Given the description of an element on the screen output the (x, y) to click on. 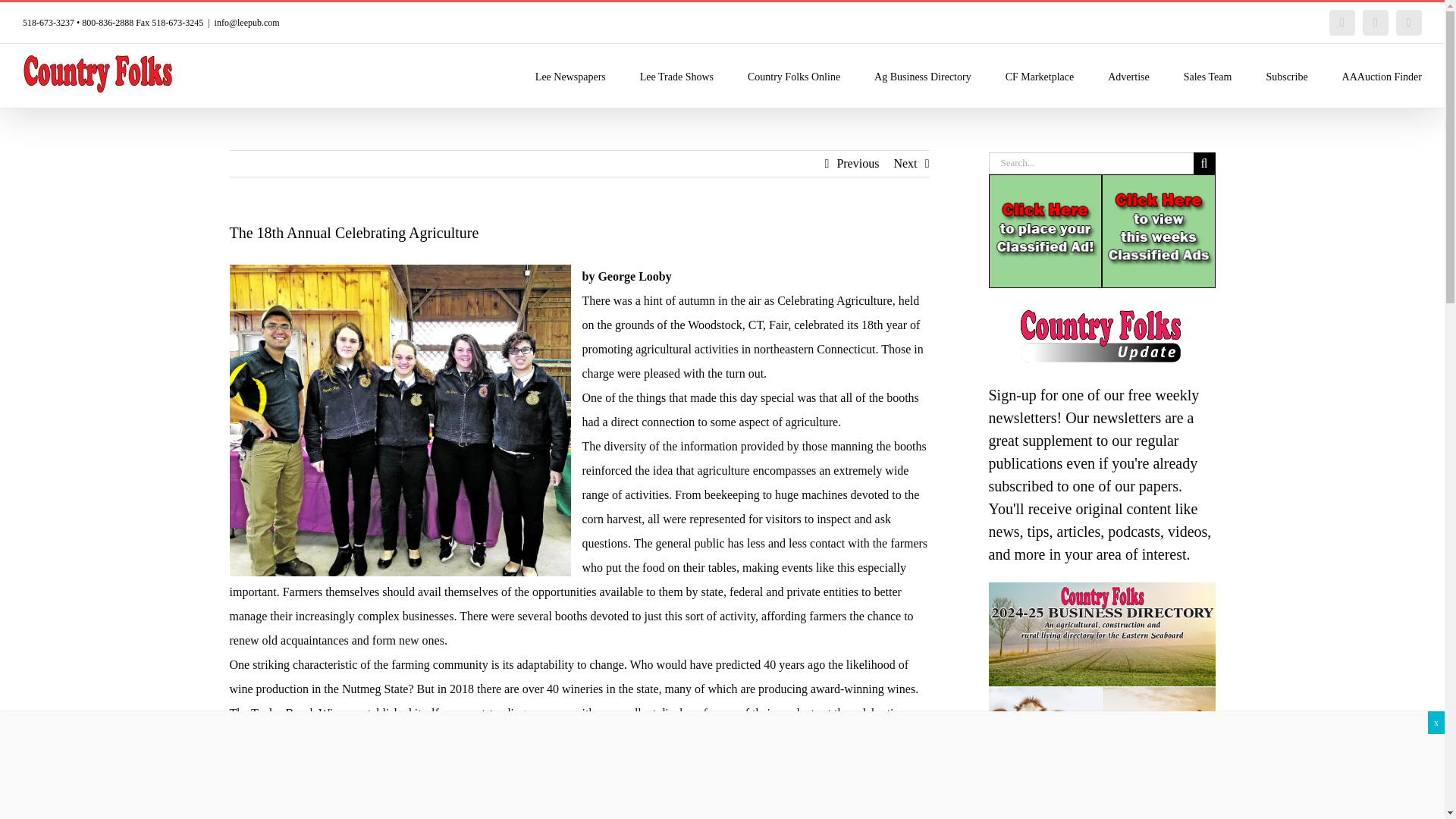
Lee Newspapers (570, 75)
Instagram (1409, 22)
AAAuction Finder (1382, 75)
Lee Trade Shows (676, 75)
Country Folks Online (794, 75)
CF Marketplace (1040, 75)
Facebook (1342, 22)
Twitter (1375, 22)
Ag Business Directory (923, 75)
